Given the description of an element on the screen output the (x, y) to click on. 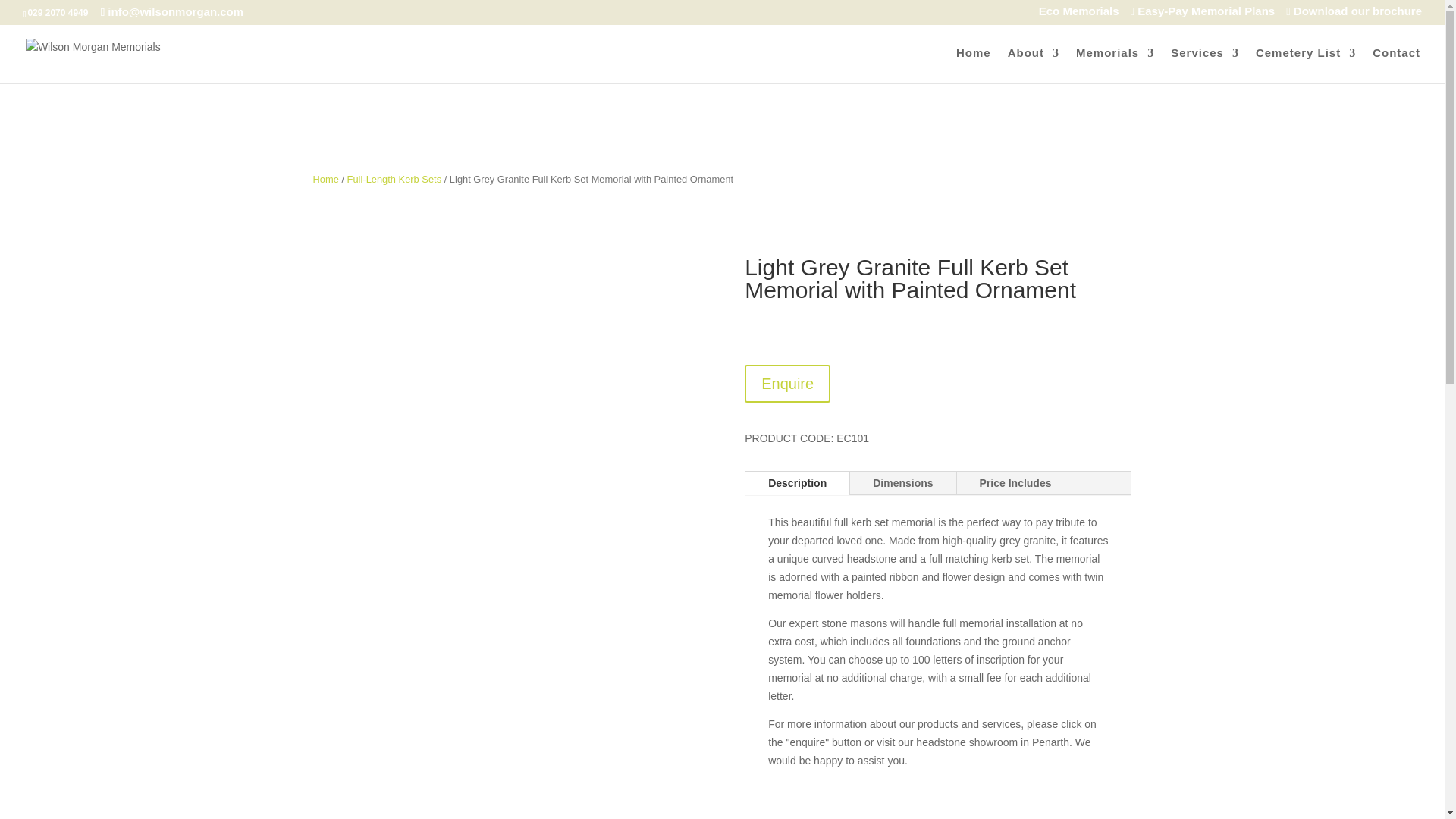
Memorials (1114, 65)
Services (1204, 65)
Cemetery List (1305, 65)
Contact (1397, 65)
About (1033, 65)
Home (325, 179)
Eco Memorials (1071, 15)
Home (973, 65)
